Given the description of an element on the screen output the (x, y) to click on. 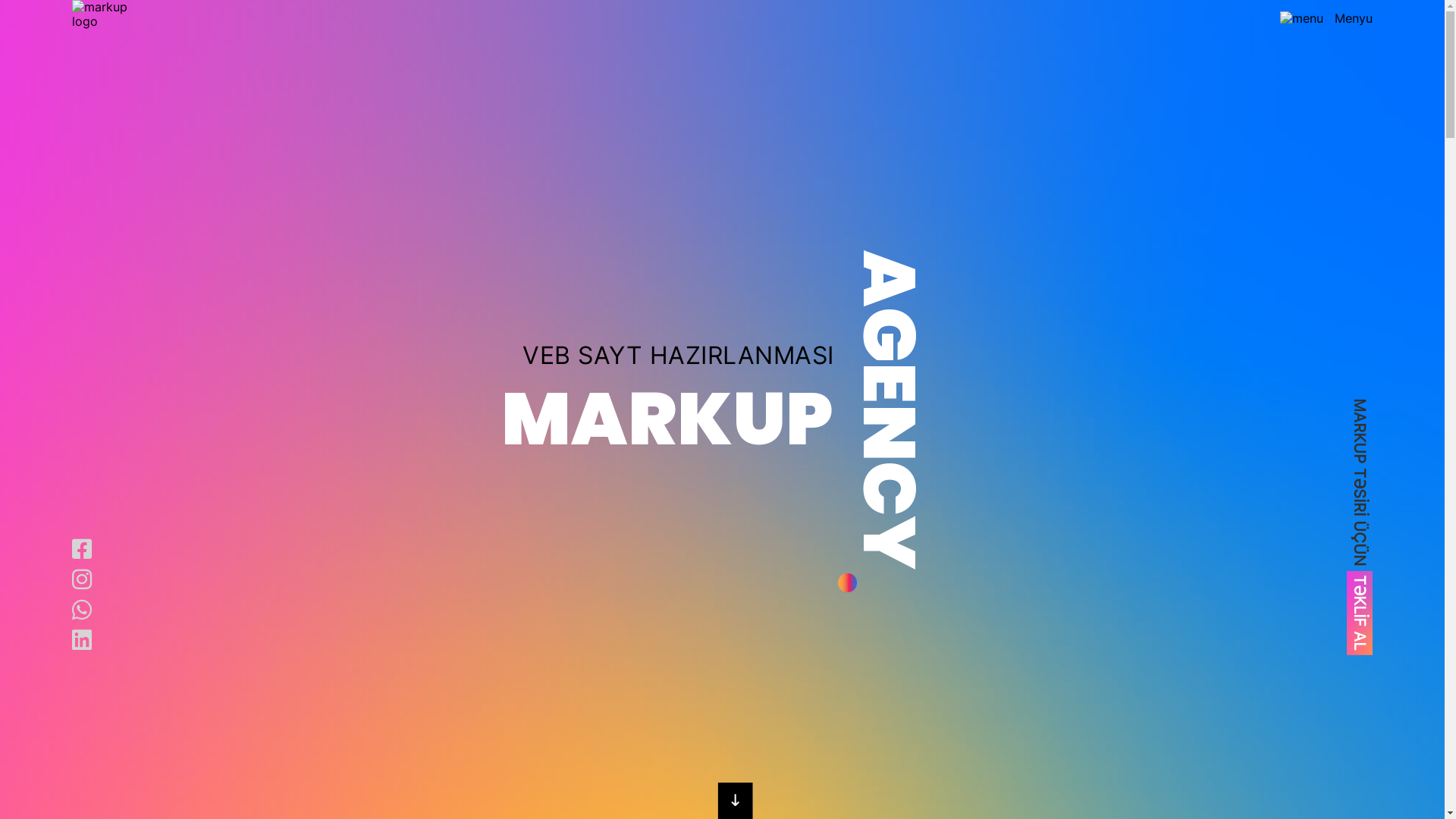
Menyu Element type: text (1326, 18)
